Given the description of an element on the screen output the (x, y) to click on. 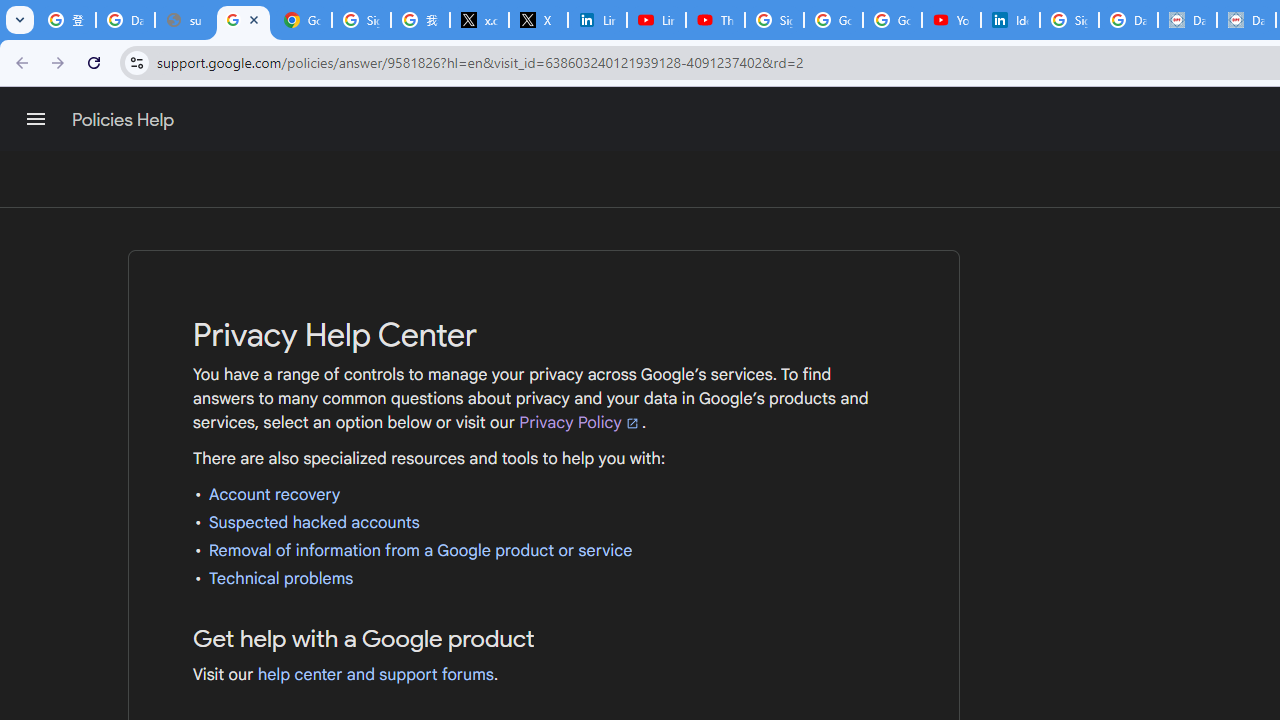
support.google.com - Network error (183, 20)
Sign in - Google Accounts (774, 20)
Policies Help (124, 119)
X (538, 20)
